Given the description of an element on the screen output the (x, y) to click on. 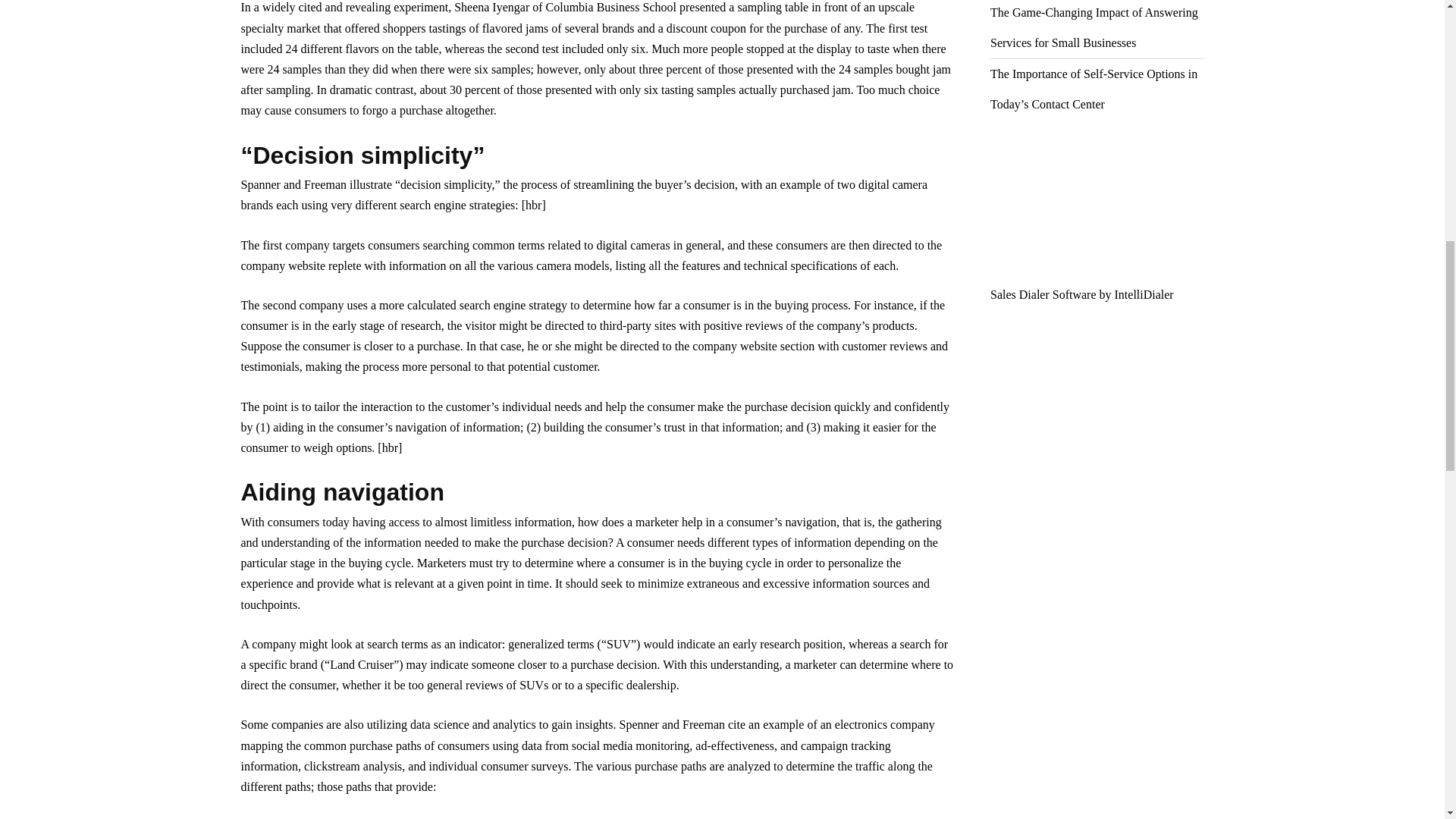
Sales Dialer Software by IntelliDialer (1097, 217)
